Given the description of an element on the screen output the (x, y) to click on. 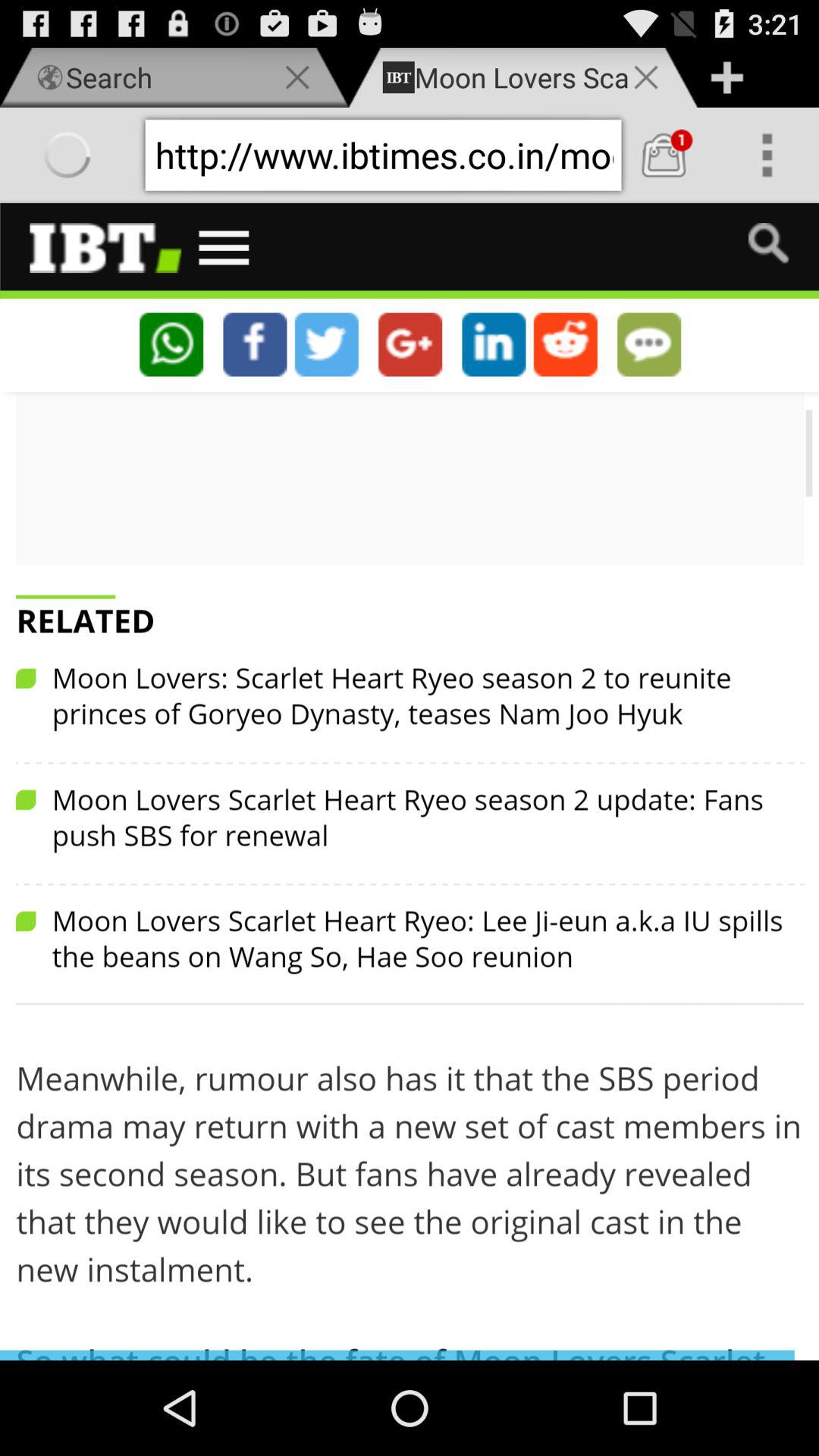
go to cart (663, 155)
